Given the description of an element on the screen output the (x, y) to click on. 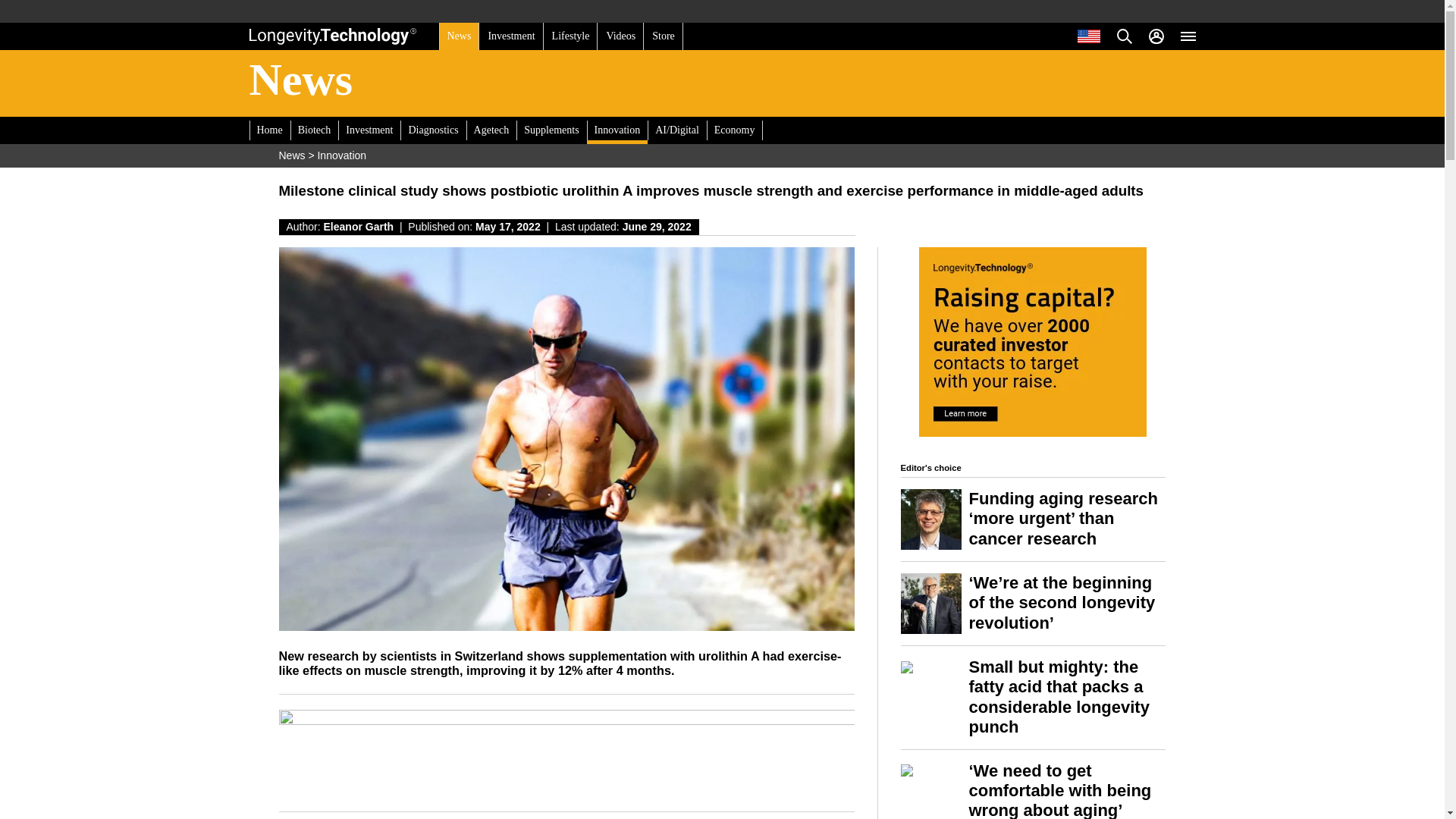
Store (662, 35)
Posts by Eleanor Garth (358, 225)
News (458, 35)
Investment (511, 35)
Videos (619, 35)
Lifestyle (570, 35)
